Given the description of an element on the screen output the (x, y) to click on. 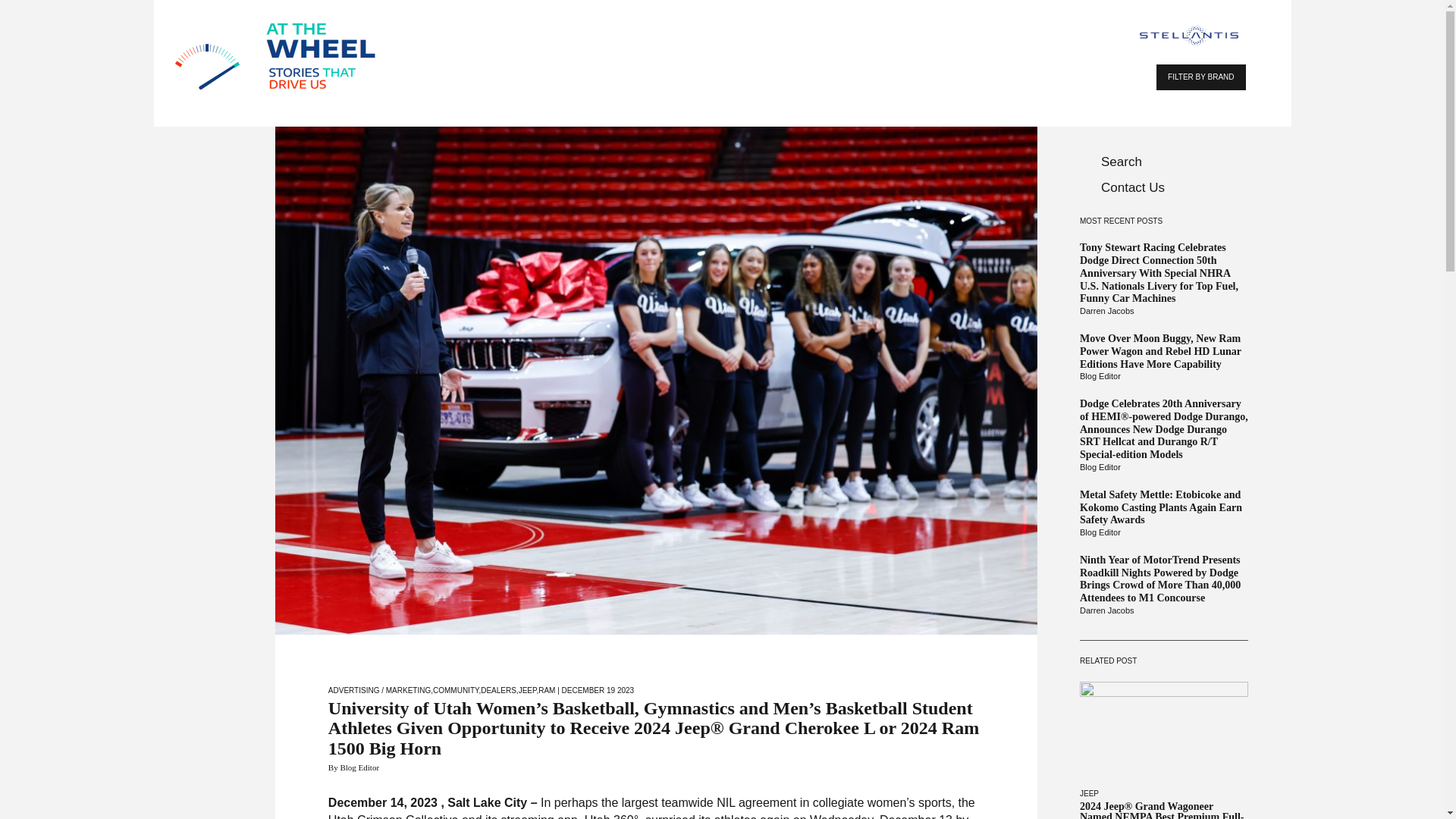
Blog Editor (1163, 467)
FILTER BY BRAND (1200, 77)
Darren Jacobs (1163, 611)
Blog Editor (1163, 377)
Darren Jacobs (1163, 311)
Contact Us (1163, 187)
